Given the description of an element on the screen output the (x, y) to click on. 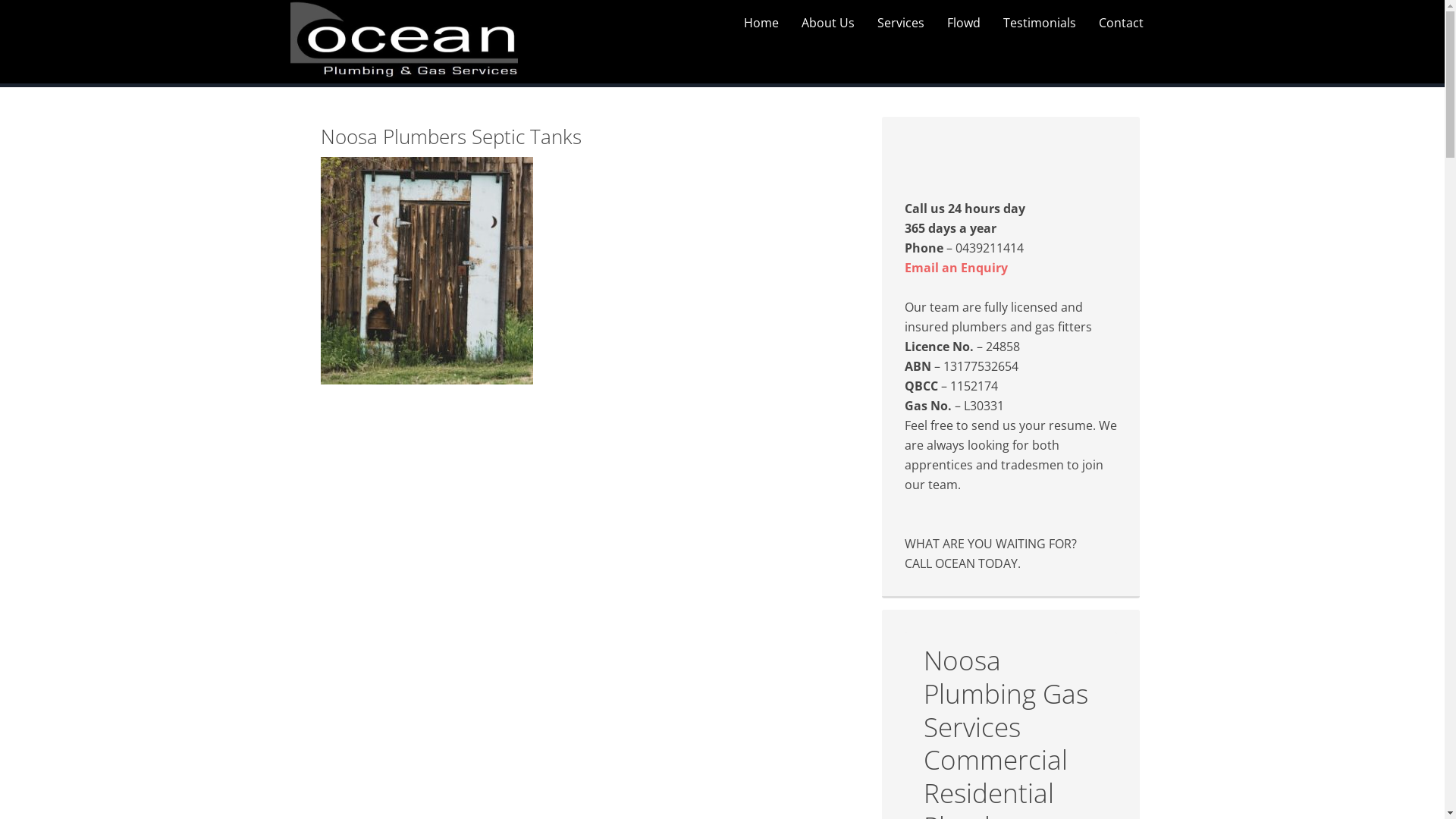
Testimonials Element type: text (1039, 22)
Skip to primary navigation Element type: text (0, 0)
Home Element type: text (761, 22)
Services Element type: text (900, 22)
Contact Element type: text (1120, 22)
About Us Element type: text (828, 22)
Ocean Plumbing and Gas Noosa Element type: text (406, 41)
Email an Enquiry Element type: text (955, 267)
Flowd Element type: text (963, 22)
